Given the description of an element on the screen output the (x, y) to click on. 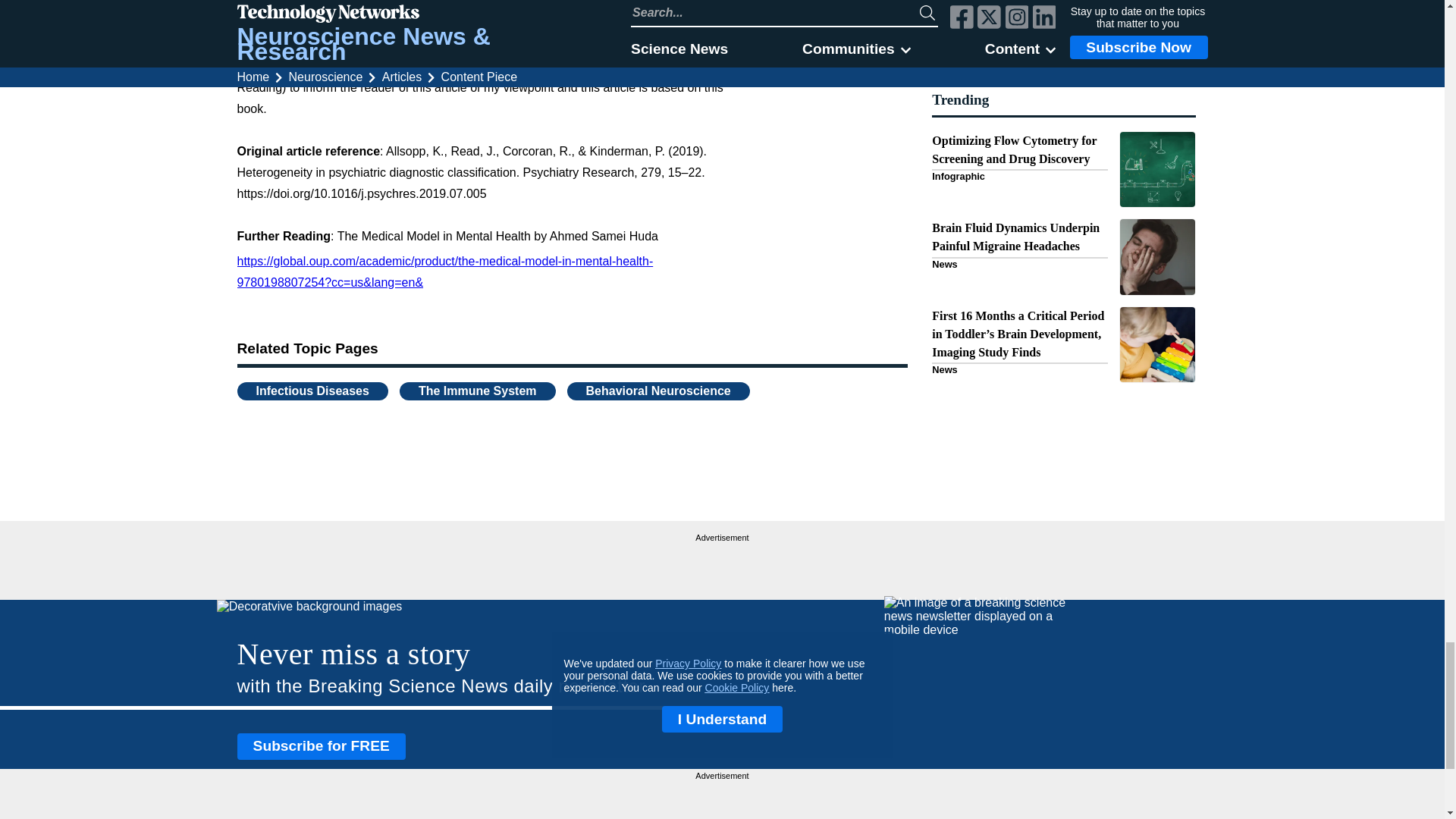
3rd party ad content (721, 565)
